Given the description of an element on the screen output the (x, y) to click on. 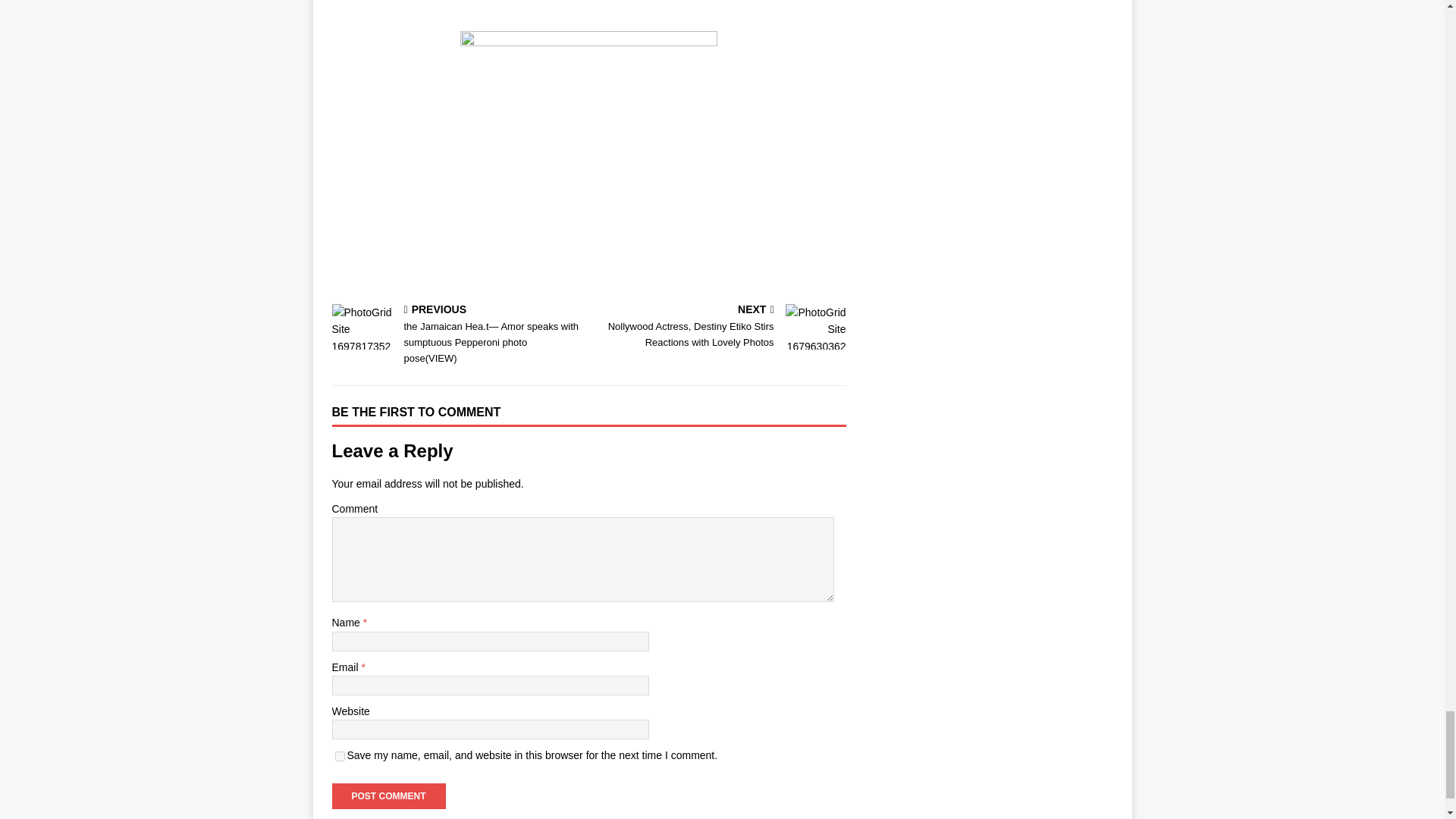
Post Comment (388, 795)
Post Comment (388, 795)
yes (339, 756)
